Given the description of an element on the screen output the (x, y) to click on. 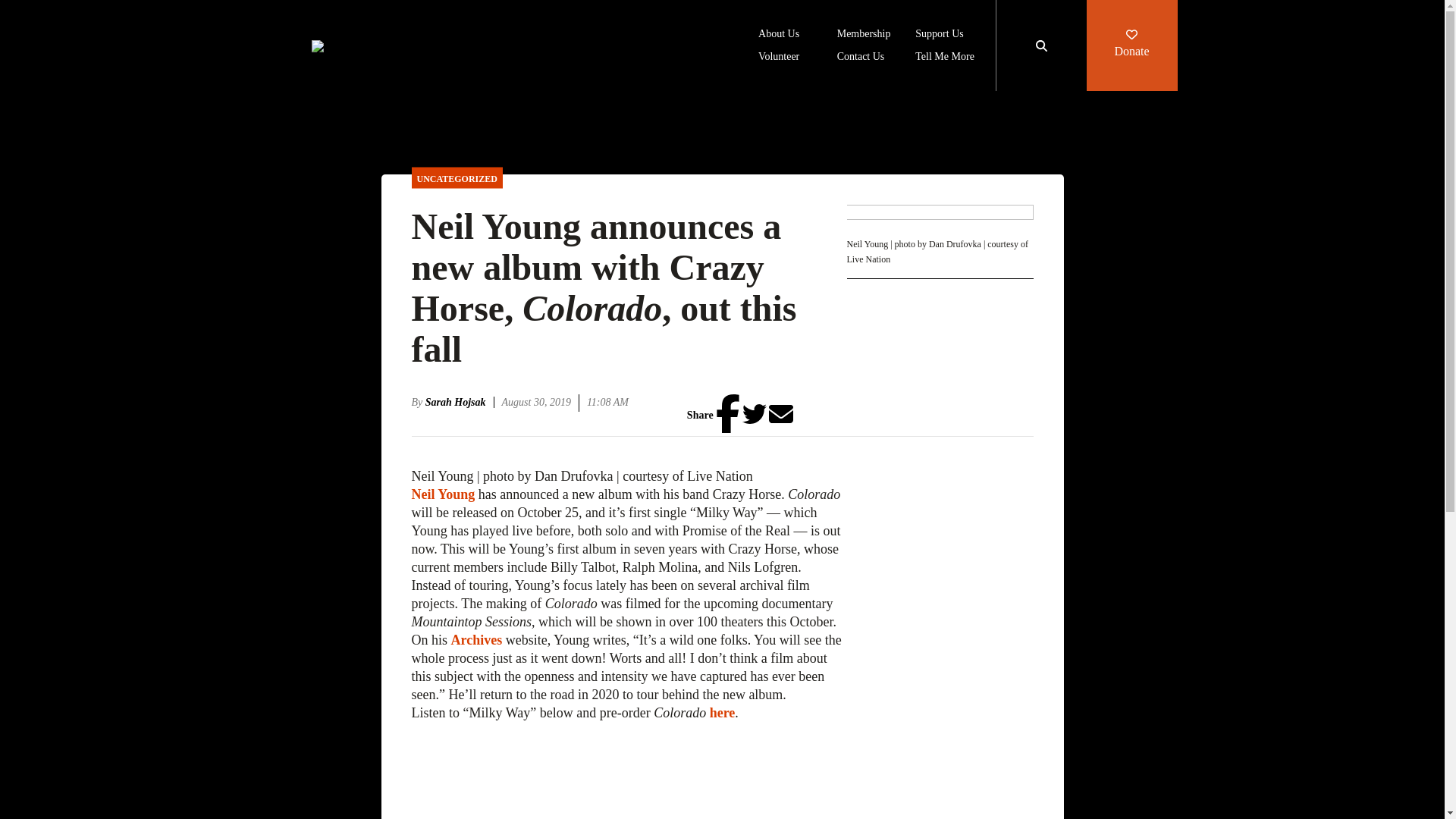
here (722, 712)
Membership (864, 35)
Contact Us (861, 57)
Tell Me More (944, 57)
Sarah Hojsak (460, 401)
About Us (778, 35)
Neil Young (442, 494)
Donate (1131, 45)
Support Us (938, 35)
Archives (476, 639)
